Given the description of an element on the screen output the (x, y) to click on. 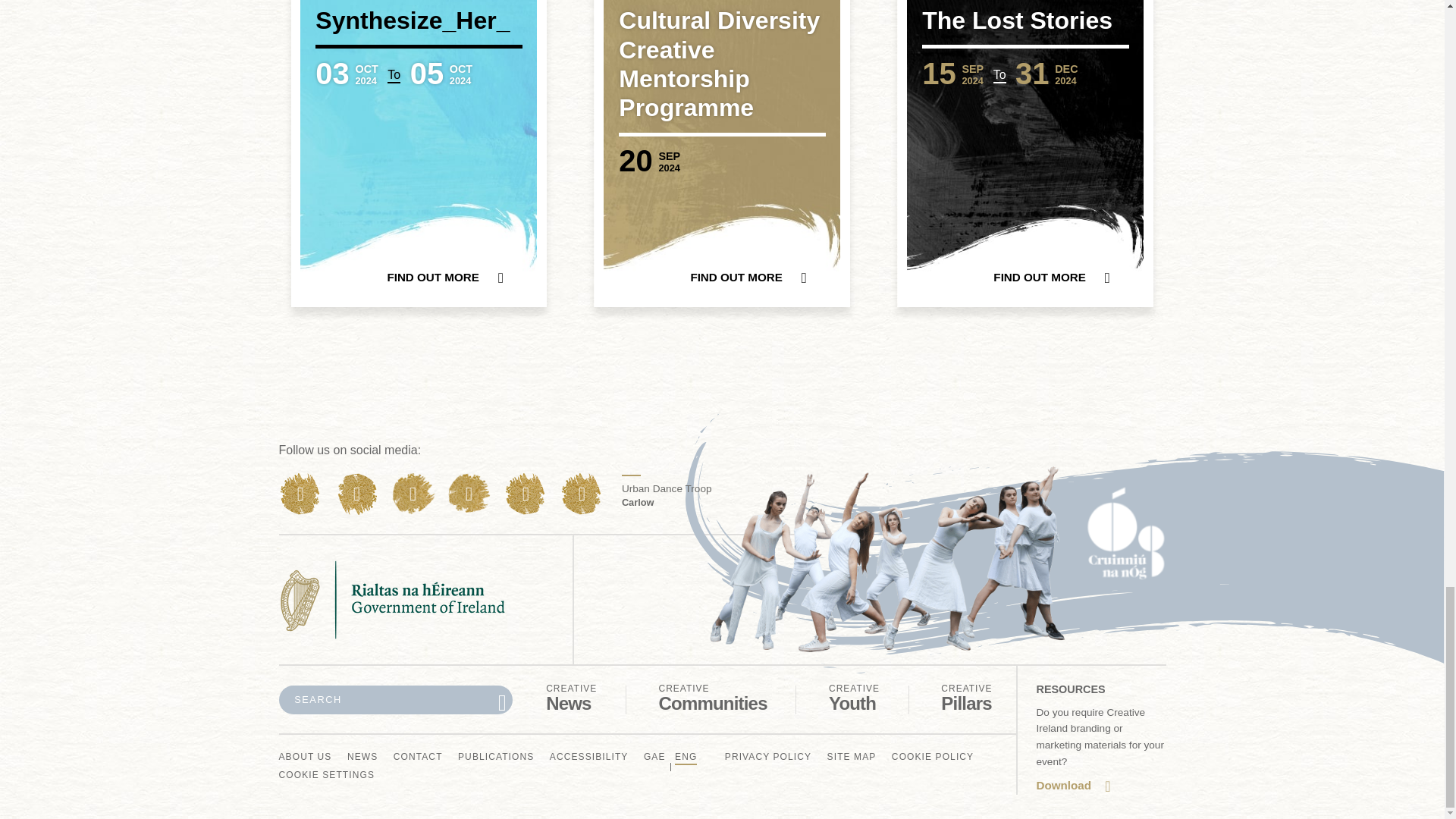
Youtube (356, 493)
Instagram (468, 493)
Facebook (300, 493)
Soundcloud (712, 698)
Twitter (525, 493)
English (412, 493)
Soundcloud (686, 758)
Gaeilge (853, 698)
